Given the description of an element on the screen output the (x, y) to click on. 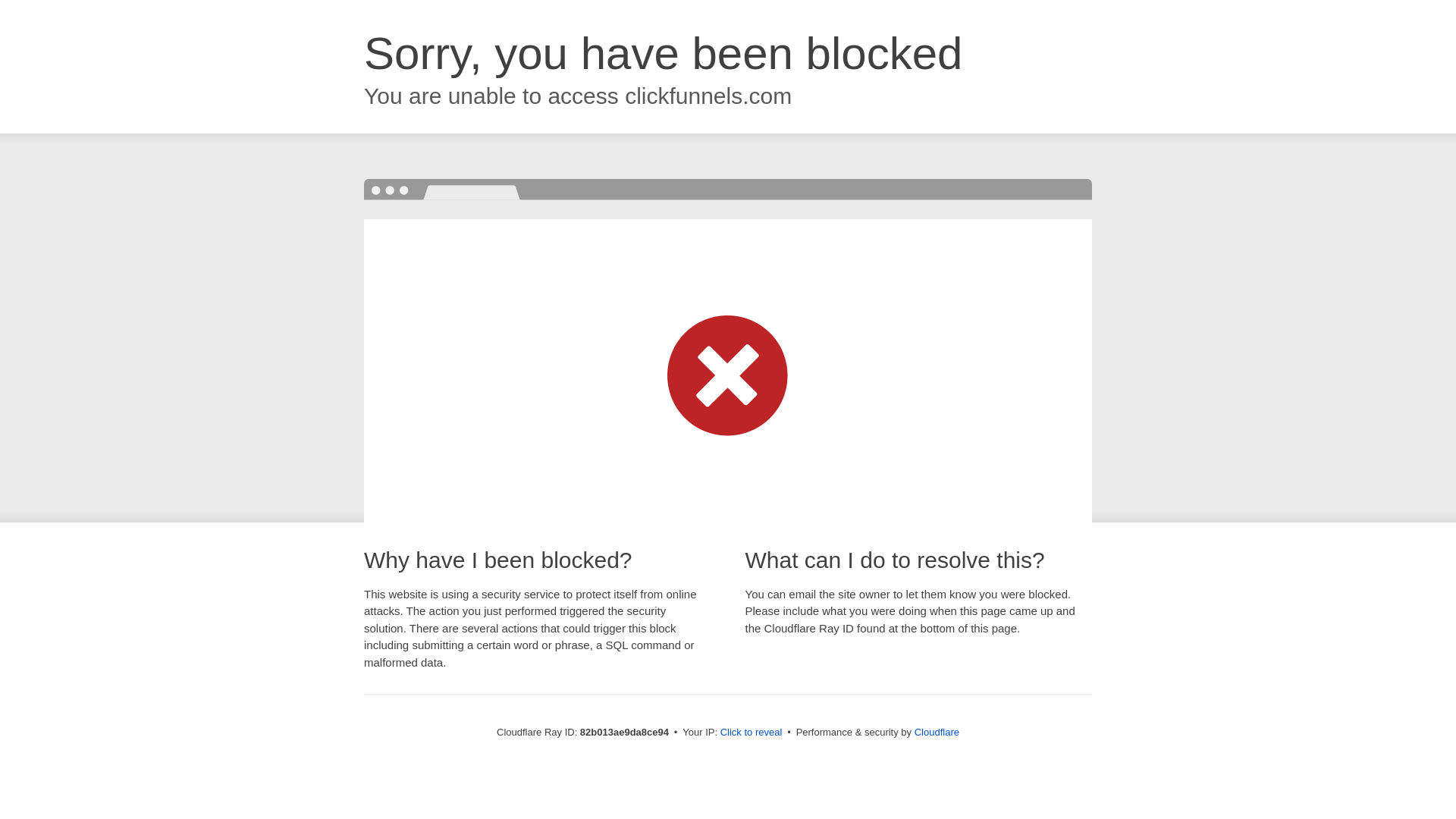
Cloudflare Element type: text (936, 731)
Click to reveal Element type: text (751, 732)
